Given the description of an element on the screen output the (x, y) to click on. 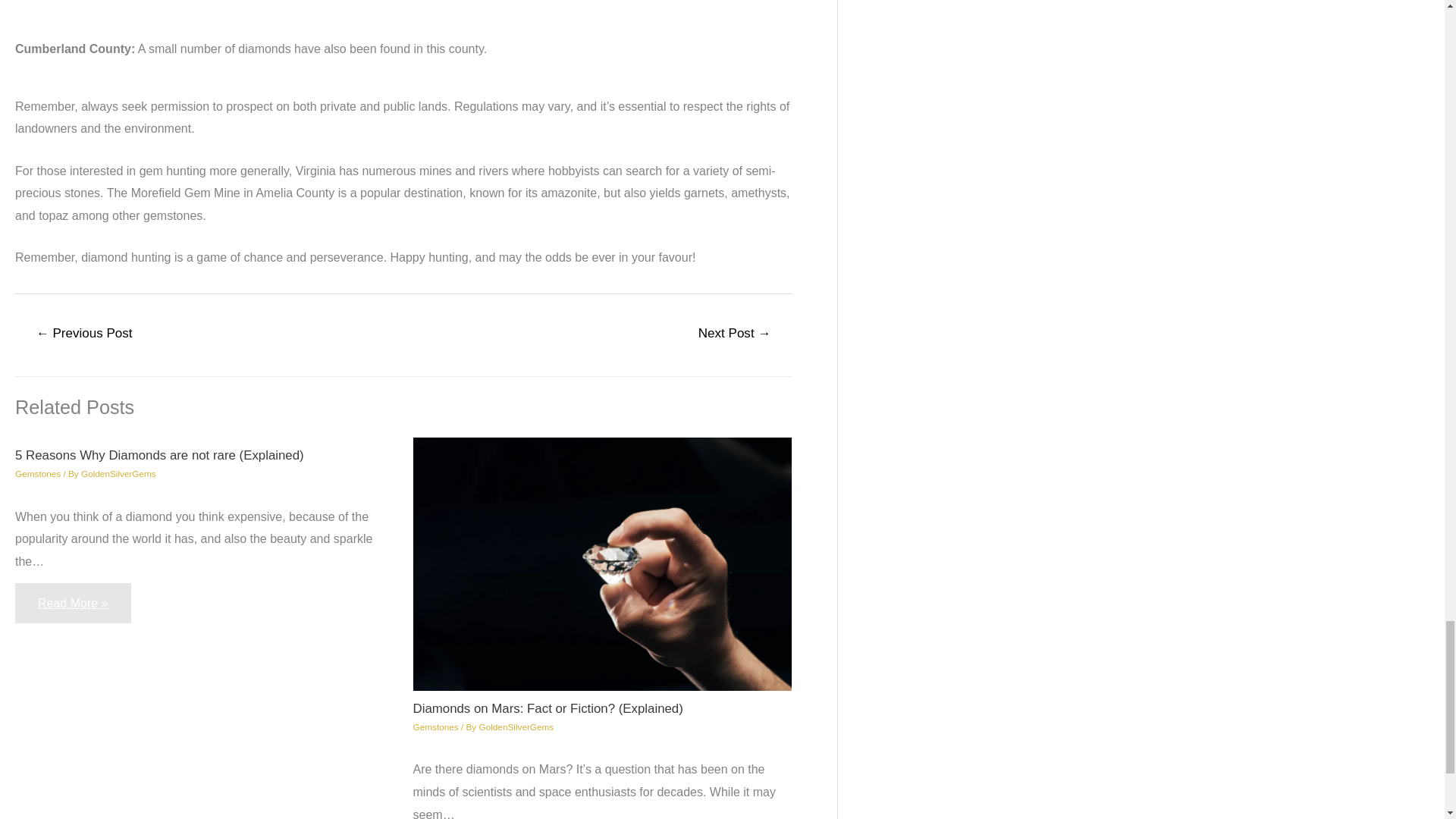
GoldenSilverGems (118, 473)
View all posts by GoldenSilverGems (516, 726)
View all posts by GoldenSilverGems (118, 473)
Gemstones (37, 473)
GoldenSilverGems (516, 726)
Gemstones (435, 726)
